Given the description of an element on the screen output the (x, y) to click on. 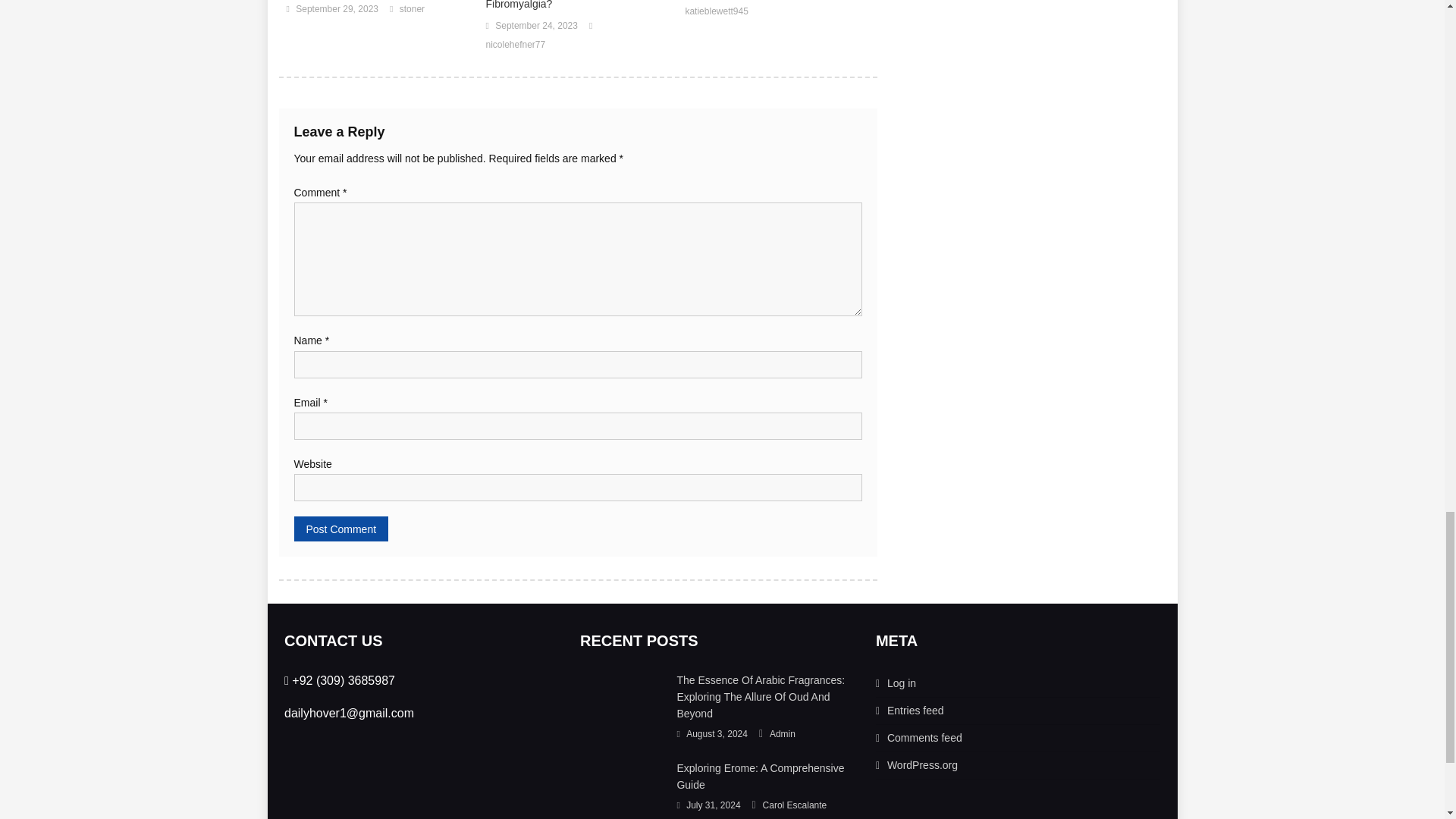
September 24, 2023 (536, 26)
nicolehefner77 (514, 45)
Post Comment (341, 528)
stoner (411, 9)
September 29, 2023 (336, 9)
